Given the description of an element on the screen output the (x, y) to click on. 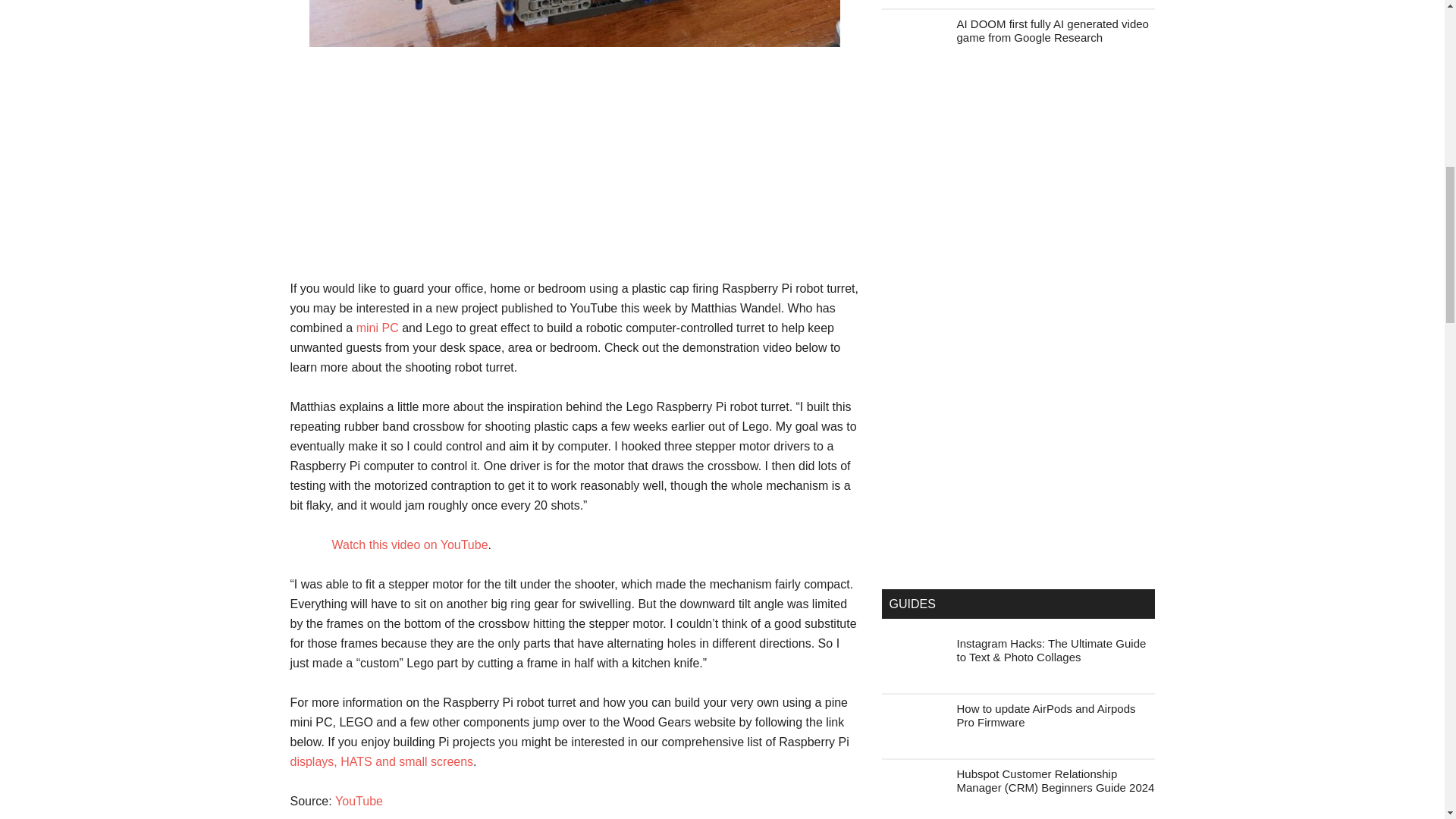
displays, HATS and small screens (381, 761)
YouTube (358, 800)
Watch this video on YouTube (409, 544)
mini PC (377, 327)
